Given the description of an element on the screen output the (x, y) to click on. 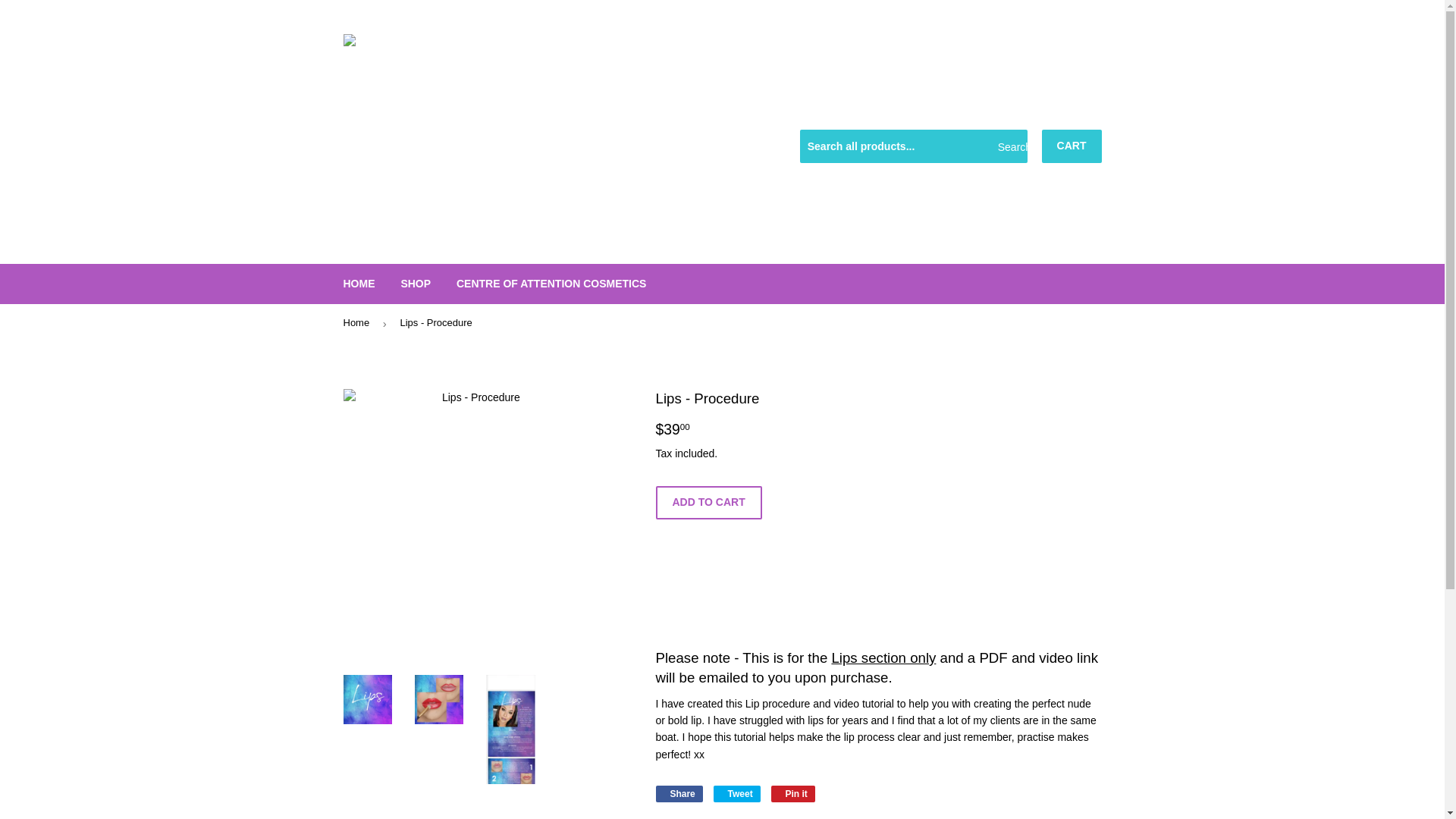
Share on Facebook (678, 793)
Sign in (986, 110)
SHOP (415, 283)
Search (1009, 146)
Create an Account (1062, 110)
CART (1072, 145)
Tweet on Twitter (736, 793)
HOME (359, 283)
Pin on Pinterest (793, 793)
